Given the description of an element on the screen output the (x, y) to click on. 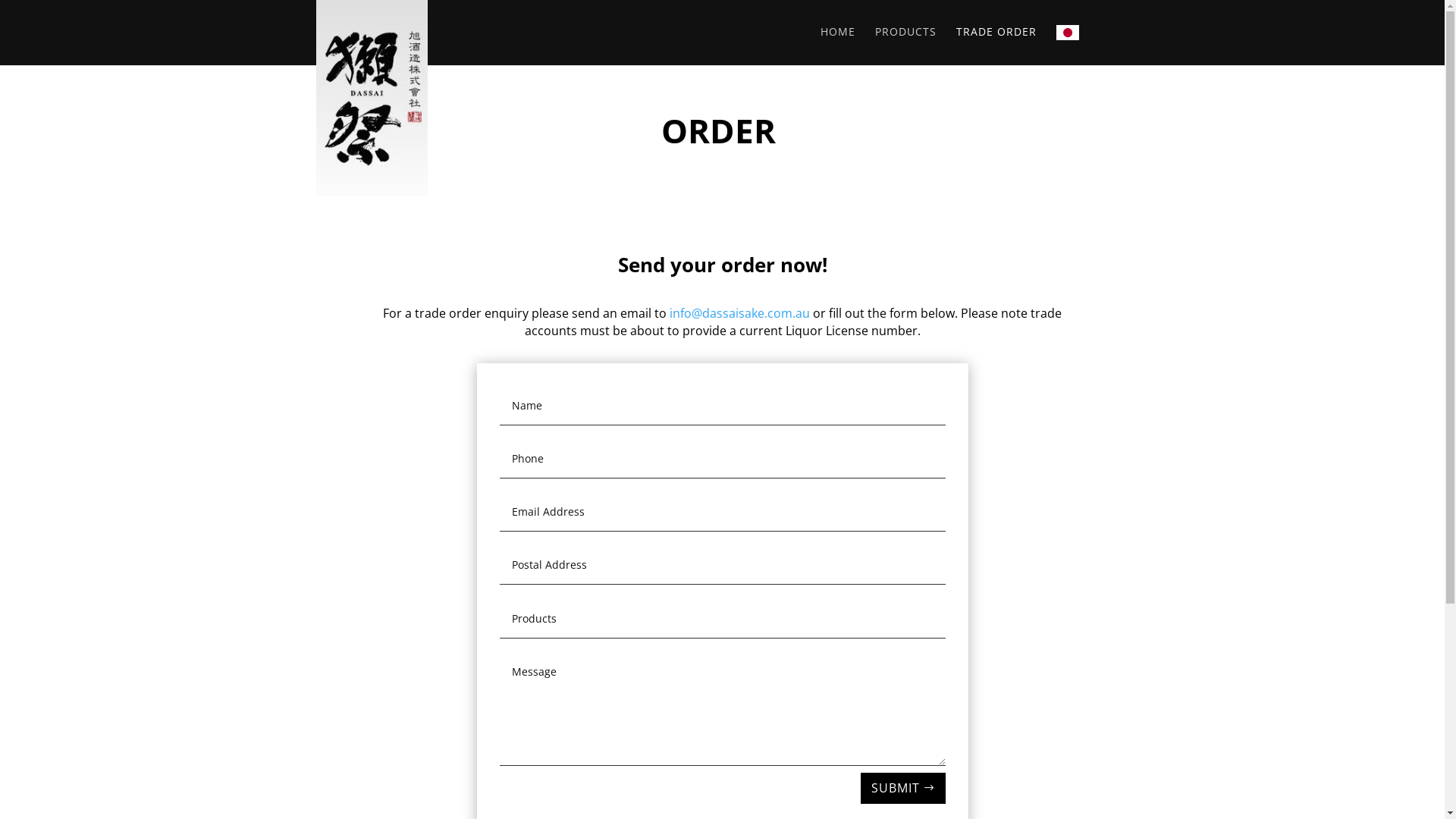
info@dassaisake.com.au Element type: text (739, 312)
HOME Element type: text (837, 44)
TRADE ORDER Element type: text (995, 44)
SUBMIT Element type: text (902, 787)
PRODUCTS Element type: text (905, 44)
